Given the description of an element on the screen output the (x, y) to click on. 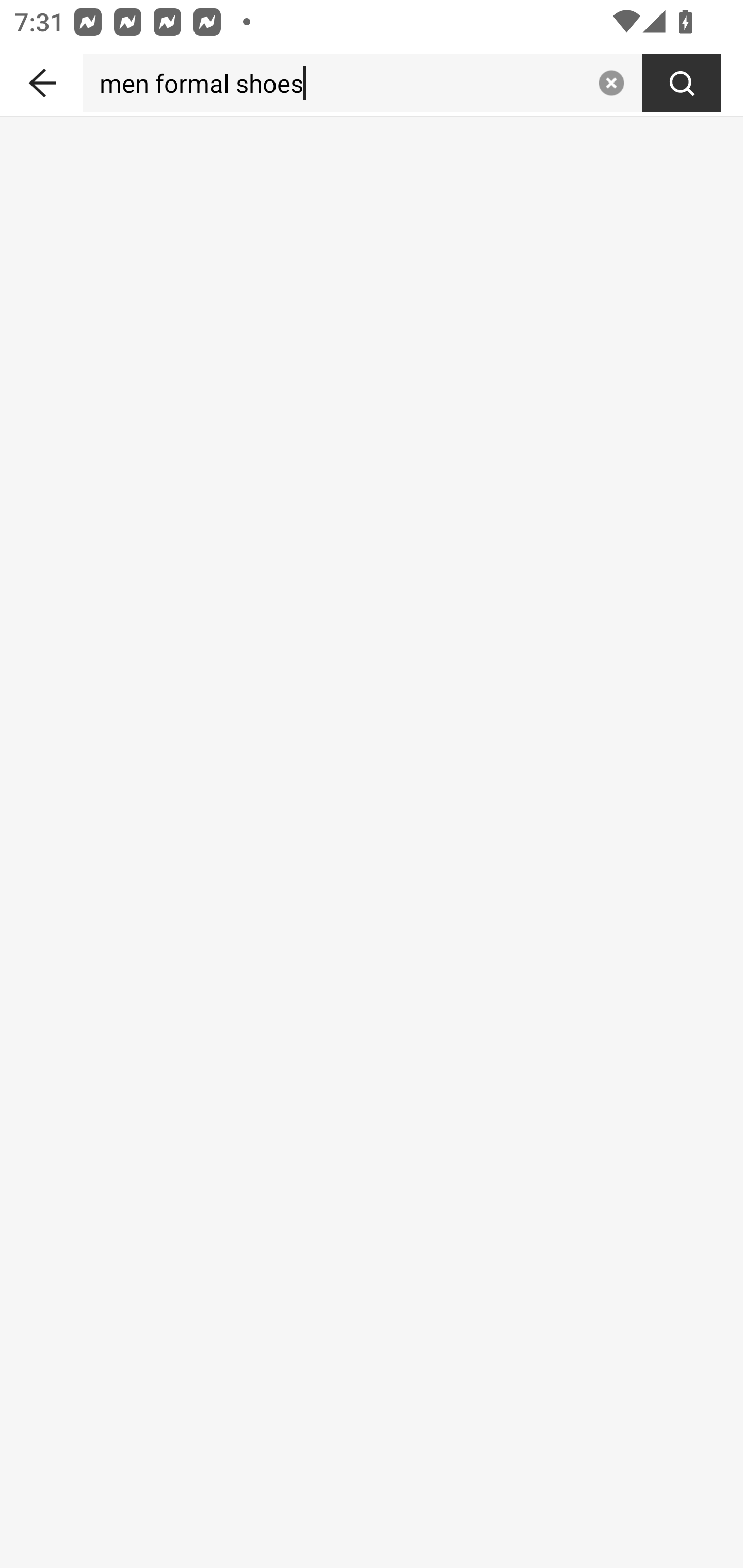
BACK (41, 79)
men formal shoes (336, 82)
Clear (610, 82)
